Given the description of an element on the screen output the (x, y) to click on. 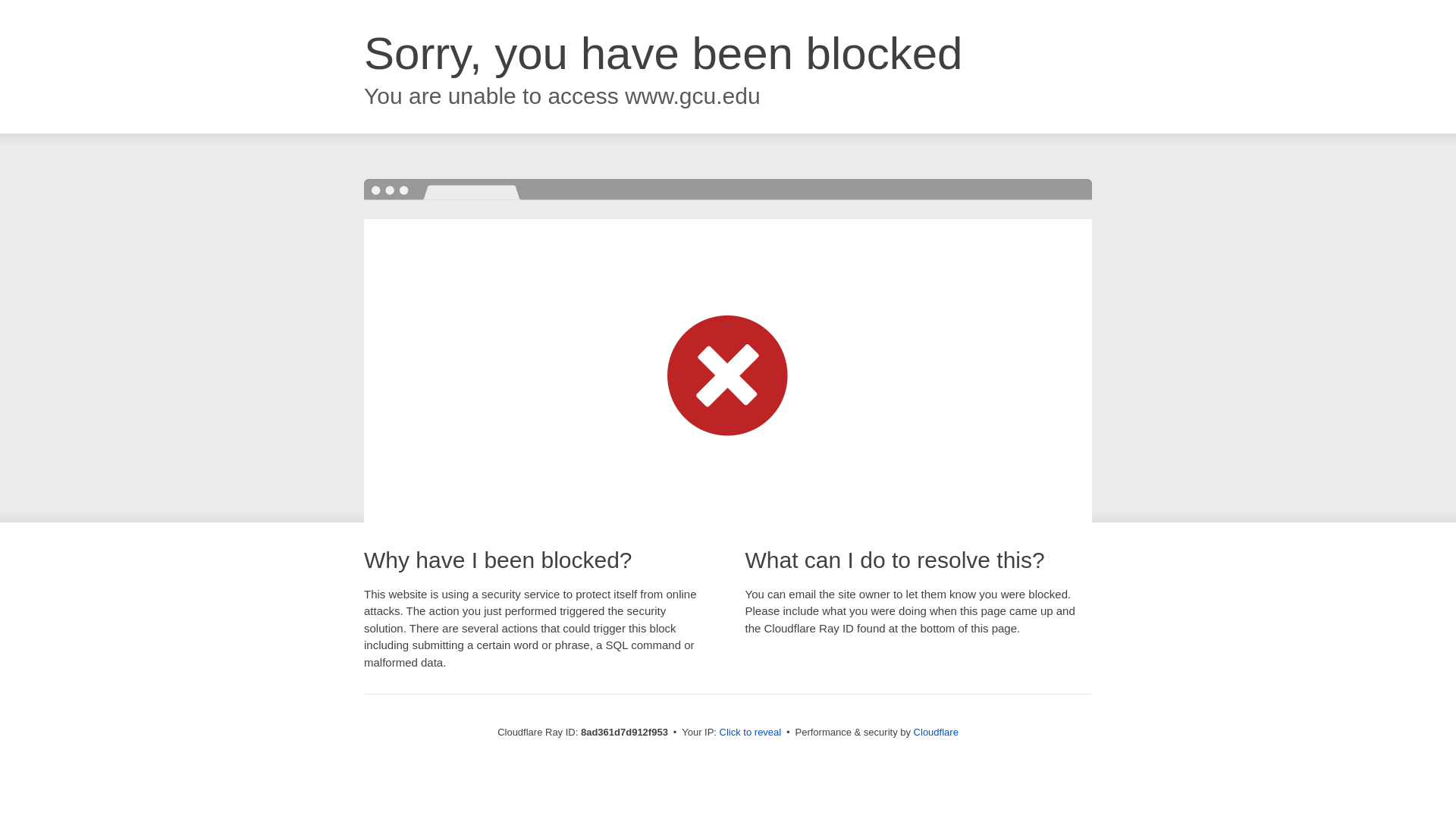
Cloudflare (936, 731)
Click to reveal (750, 732)
